Given the description of an element on the screen output the (x, y) to click on. 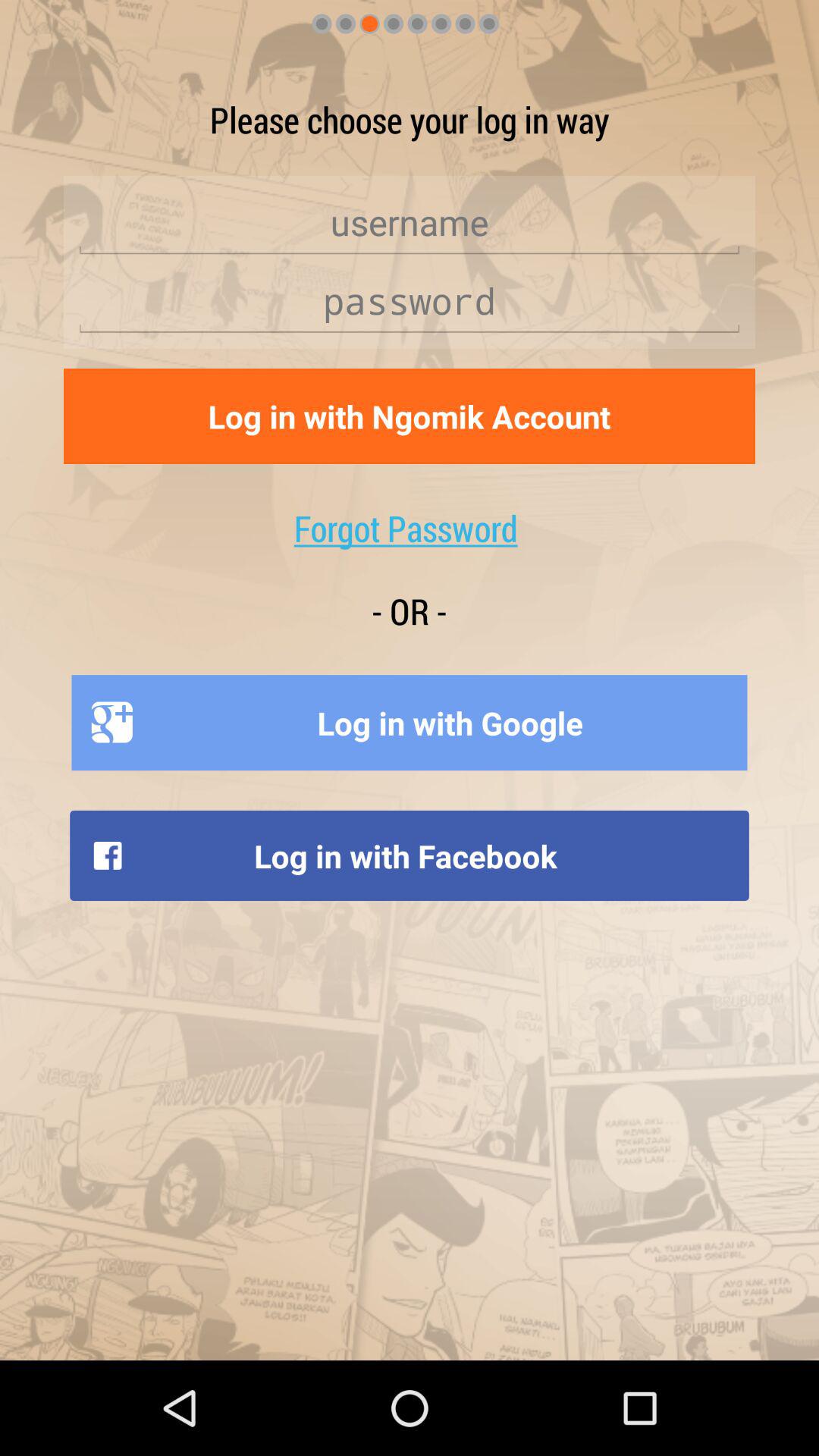
username text box (409, 222)
